Given the description of an element on the screen output the (x, y) to click on. 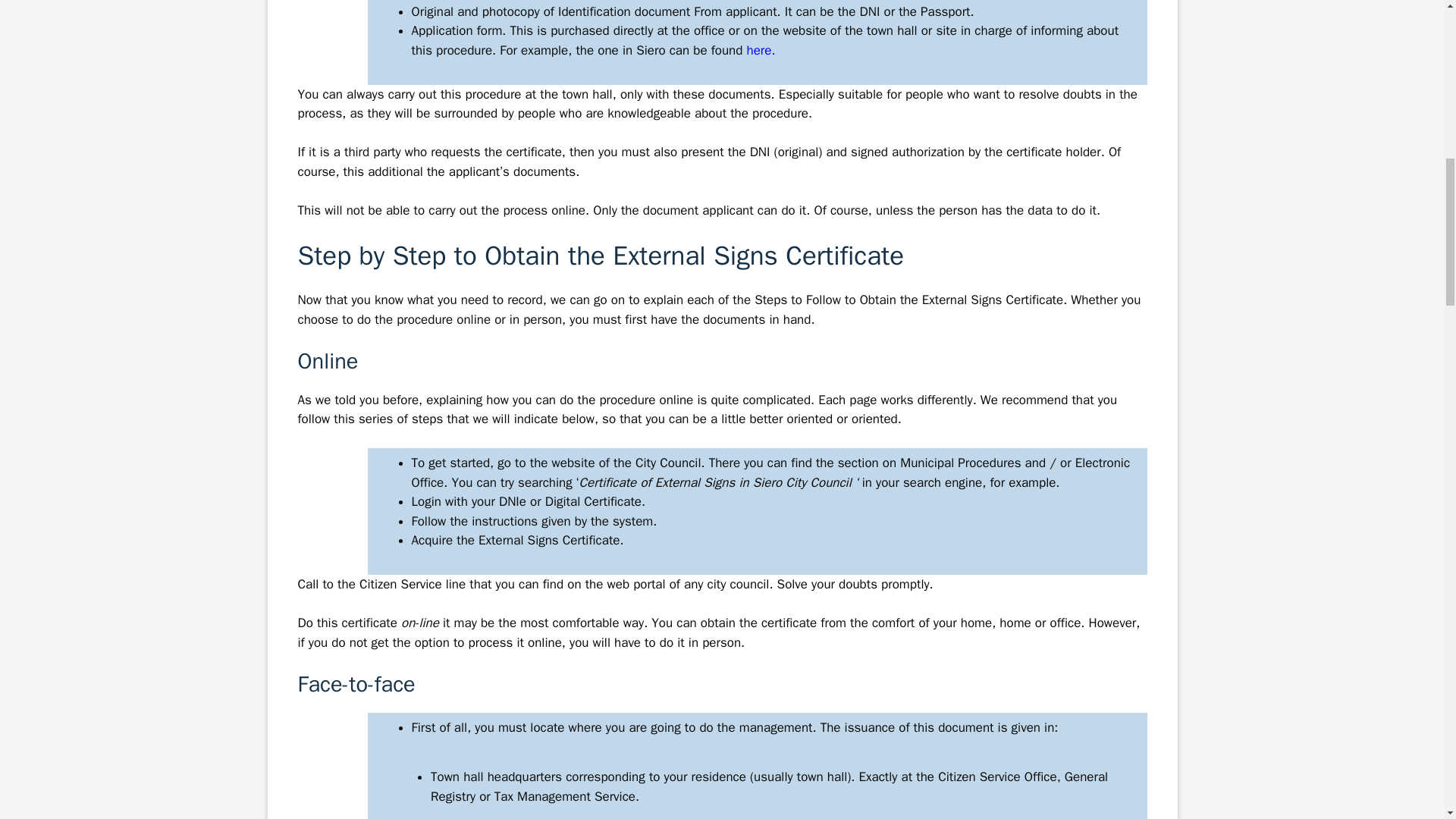
here (756, 50)
Volver arriba (1406, 720)
